Given the description of an element on the screen output the (x, y) to click on. 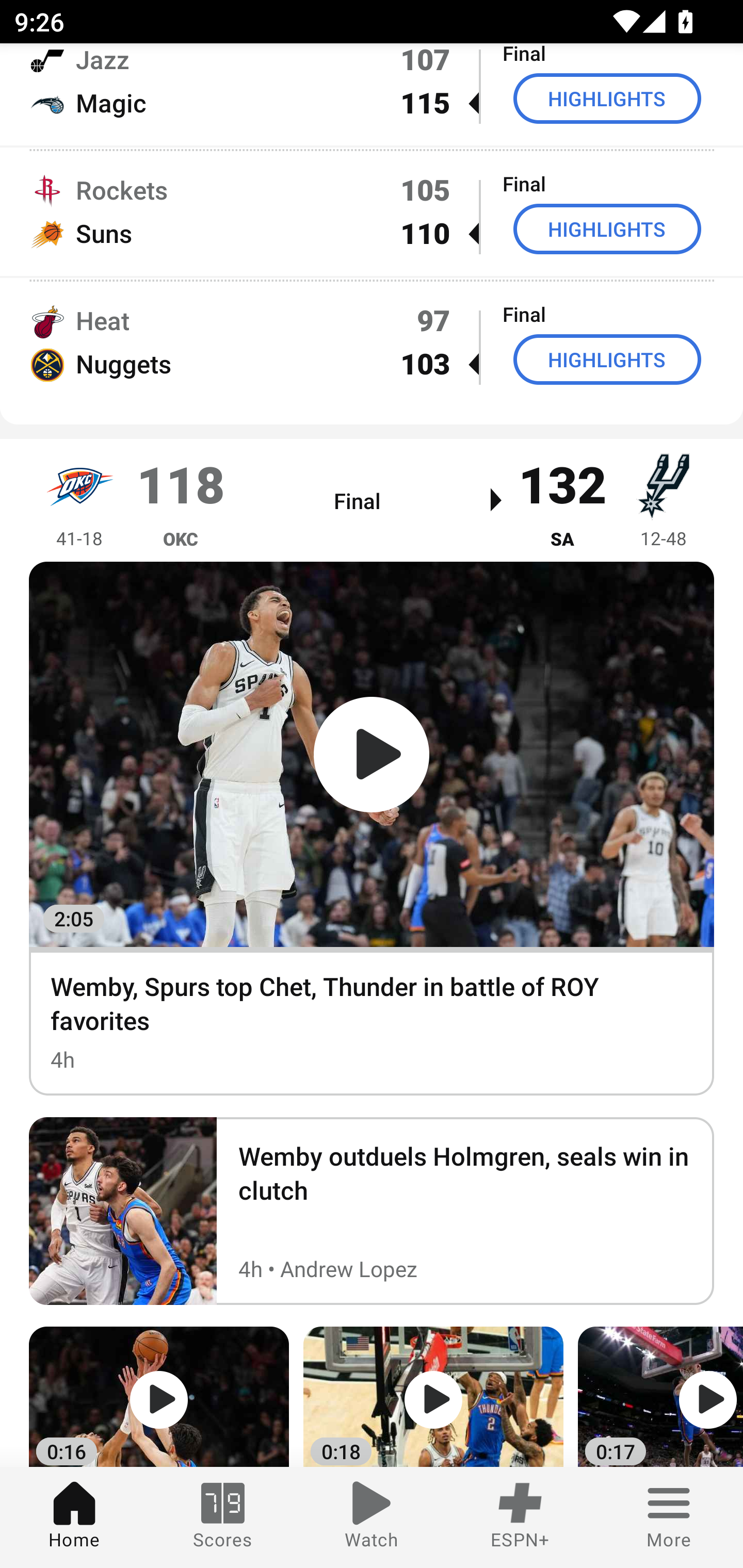
Jazz 107 Final Magic 115  HIGHLIGHTS (371, 94)
HIGHLIGHTS (607, 98)
Rockets 105 Final Suns 110  HIGHLIGHTS (371, 211)
HIGHLIGHTS (607, 228)
Heat 97 Final Nuggets 103  HIGHLIGHTS (371, 341)
HIGHLIGHTS (607, 358)
 0:16 (158, 1396)
 0:18 (433, 1396)
 0:17 (660, 1396)
Scores (222, 1517)
Watch (371, 1517)
ESPN+ (519, 1517)
More (668, 1517)
